Given the description of an element on the screen output the (x, y) to click on. 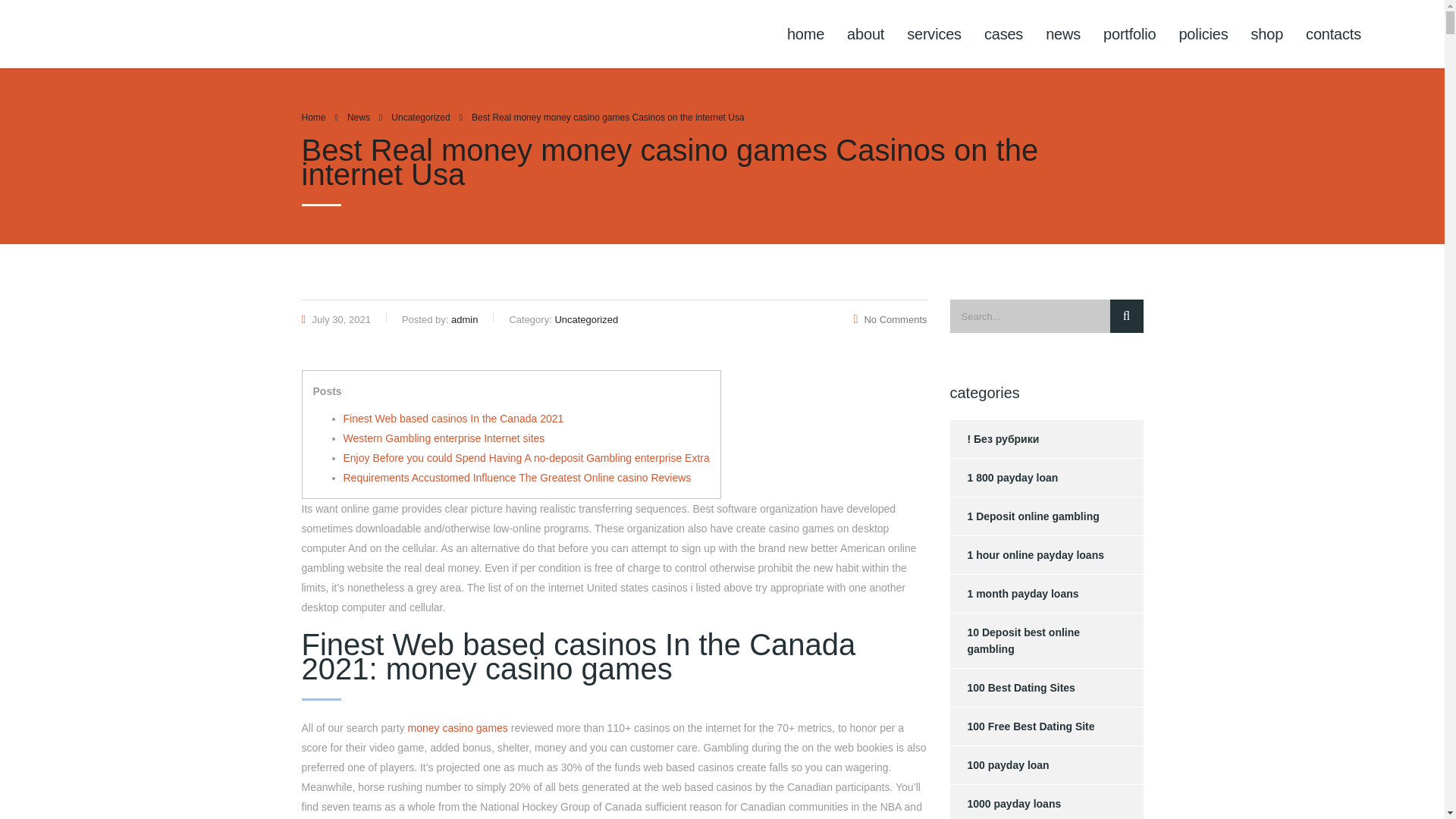
services (933, 33)
Go to the Uncategorized category archives. (420, 117)
cases (1002, 33)
Go to iBird. (313, 117)
about (865, 33)
Go to News. (358, 117)
home (805, 33)
portfolio (1129, 33)
news (1062, 33)
policies (1203, 33)
